Given the description of an element on the screen output the (x, y) to click on. 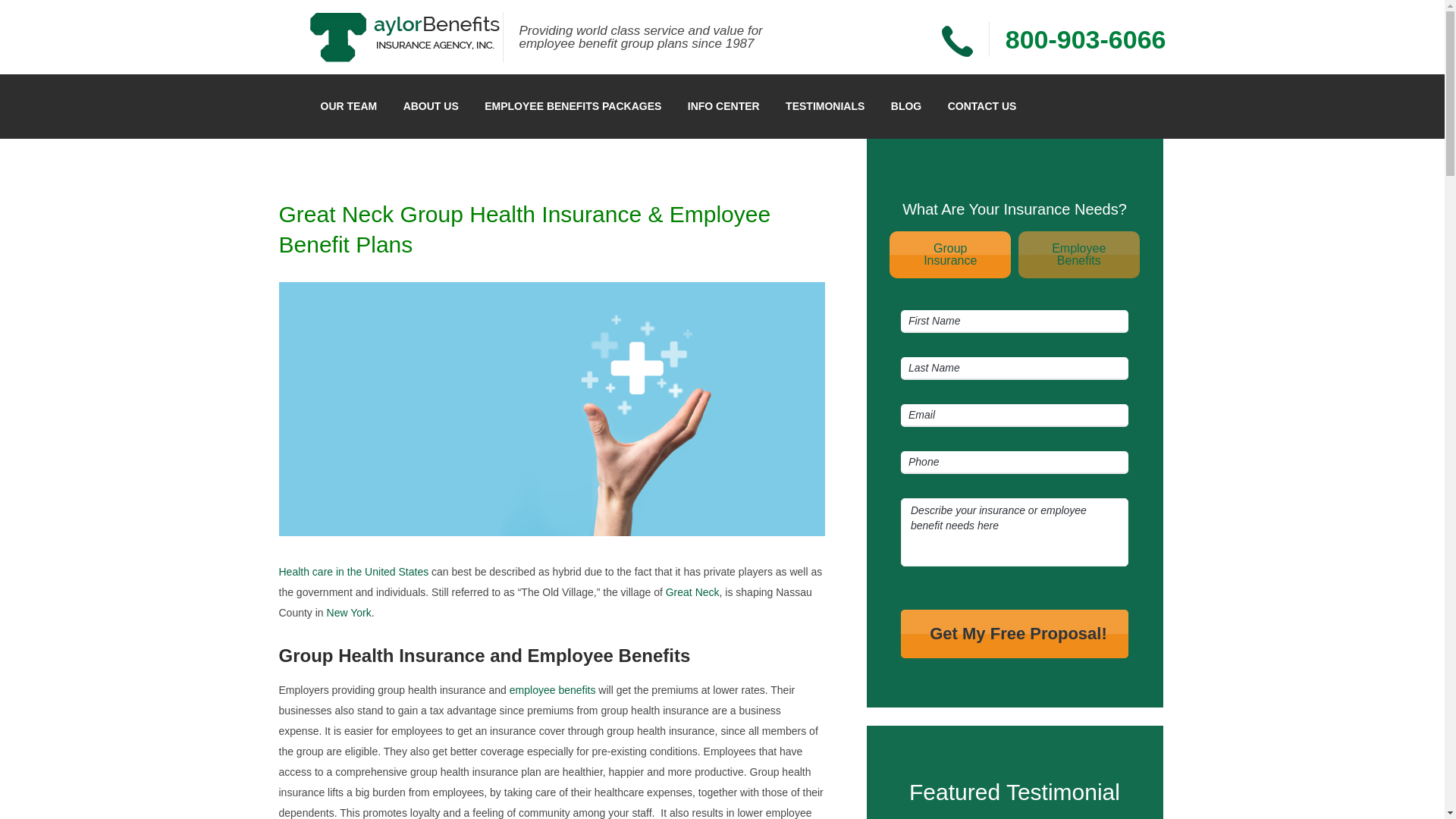
OUR TEAM (349, 105)
New York (348, 612)
BLOG (1078, 254)
CONTACT US (905, 105)
EMPLOYEE BENEFITS PACKAGES (981, 105)
Health care in the United States (572, 105)
800-903-6066 (354, 571)
Great Neck (1086, 38)
Get My Free Proposal! (692, 592)
TESTIMONIALS (1014, 633)
Get My Free Proposal! (824, 105)
ABOUT US (1014, 633)
employee benefits (430, 105)
INFO CENTER (552, 689)
